Given the description of an element on the screen output the (x, y) to click on. 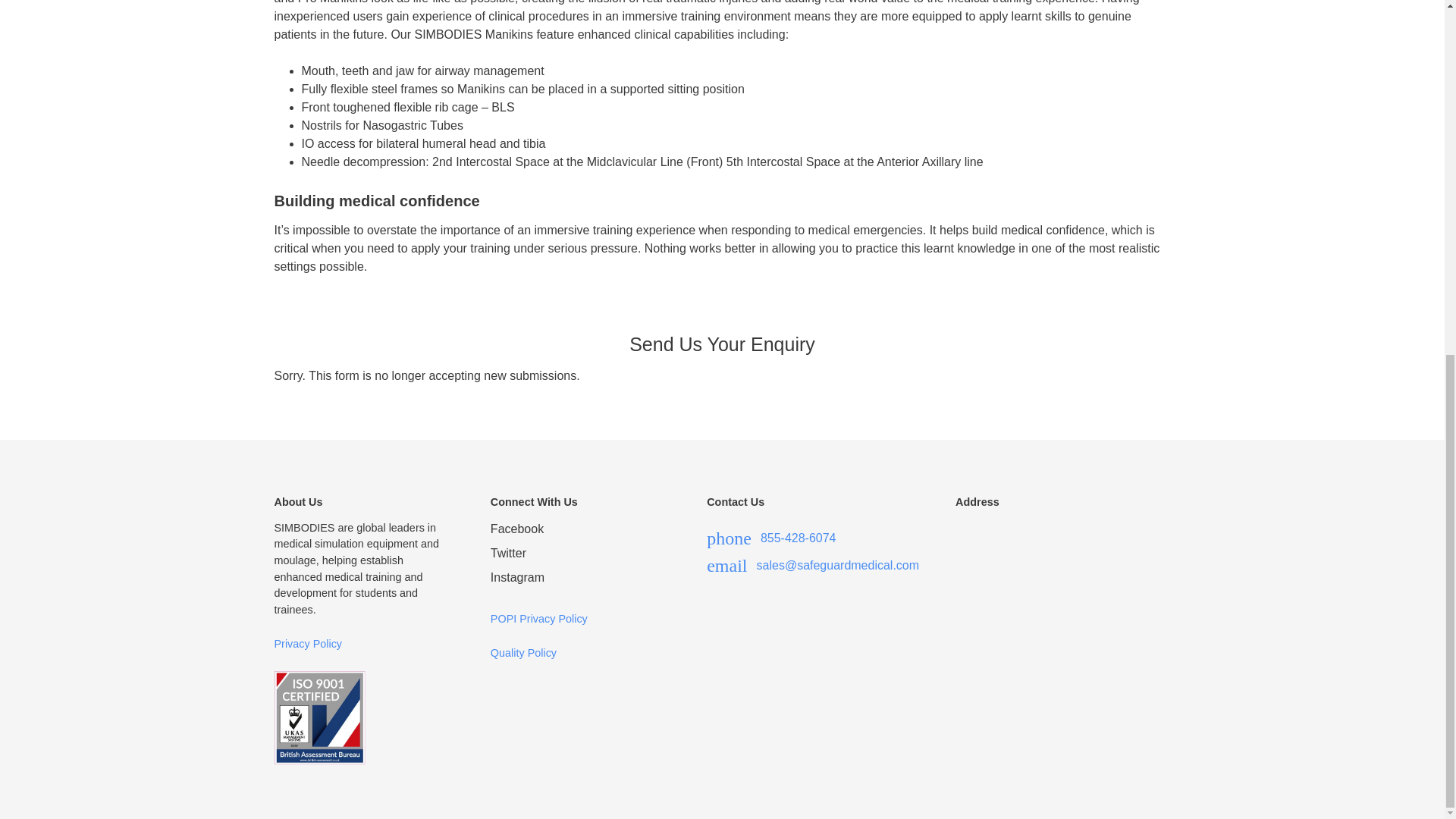
Privacy Policy (308, 644)
Facebook (579, 529)
Twitter (579, 553)
Quality Policy (523, 653)
Instagram (579, 577)
POPI Privacy Policy (539, 618)
